Given the description of an element on the screen output the (x, y) to click on. 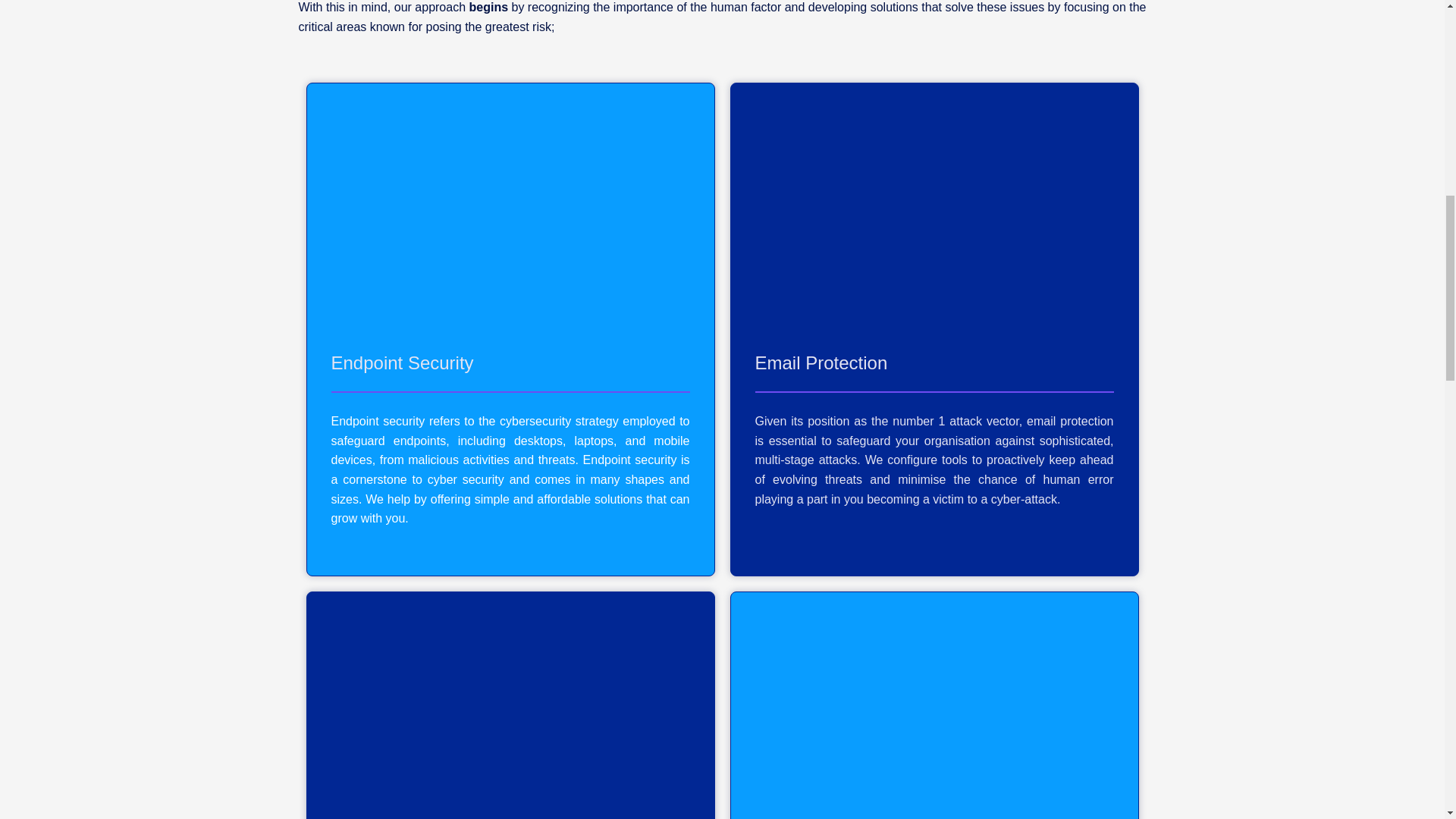
Endpoint Security (401, 362)
Email Protection (821, 362)
